Given the description of an element on the screen output the (x, y) to click on. 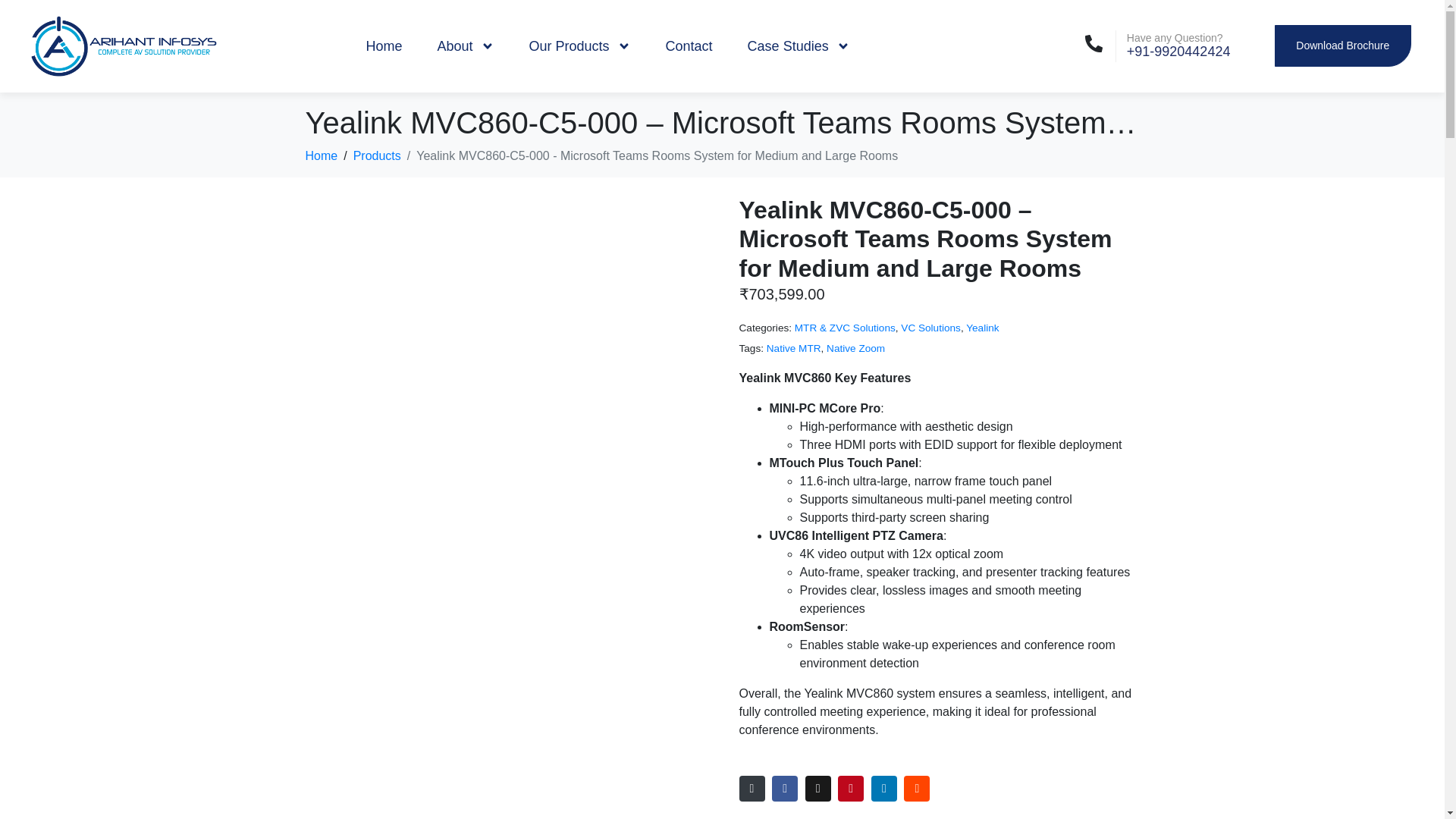
Our Products (580, 46)
Contact (688, 46)
Home (383, 46)
About (464, 46)
Case Studies (798, 46)
